Given the description of an element on the screen output the (x, y) to click on. 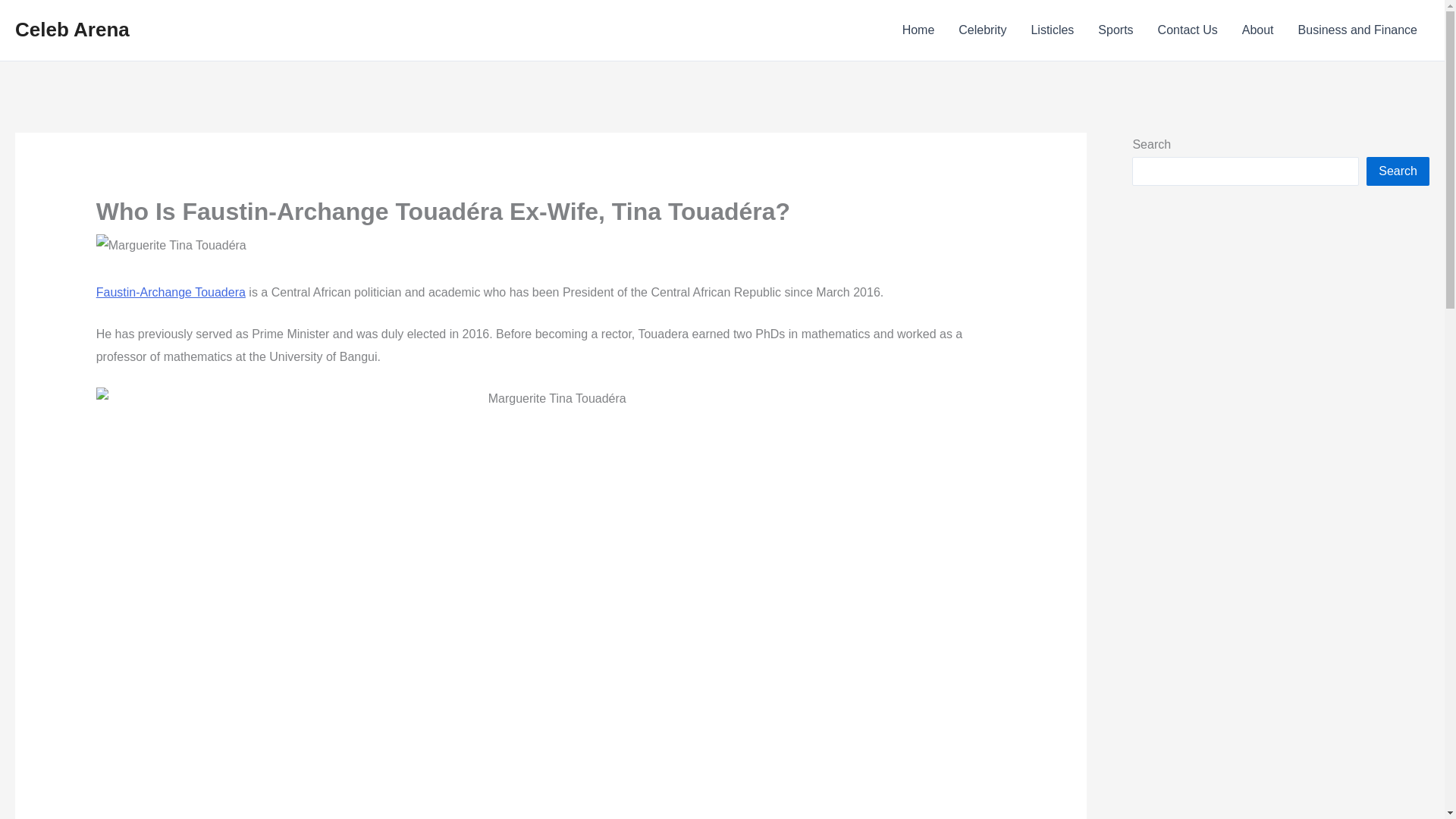
Sports (1115, 30)
Home (918, 30)
Business and Finance (1357, 30)
Celebrity (981, 30)
Listicles (1051, 30)
Celeb Arena (71, 29)
About (1257, 30)
Contact Us (1187, 30)
